Given the description of an element on the screen output the (x, y) to click on. 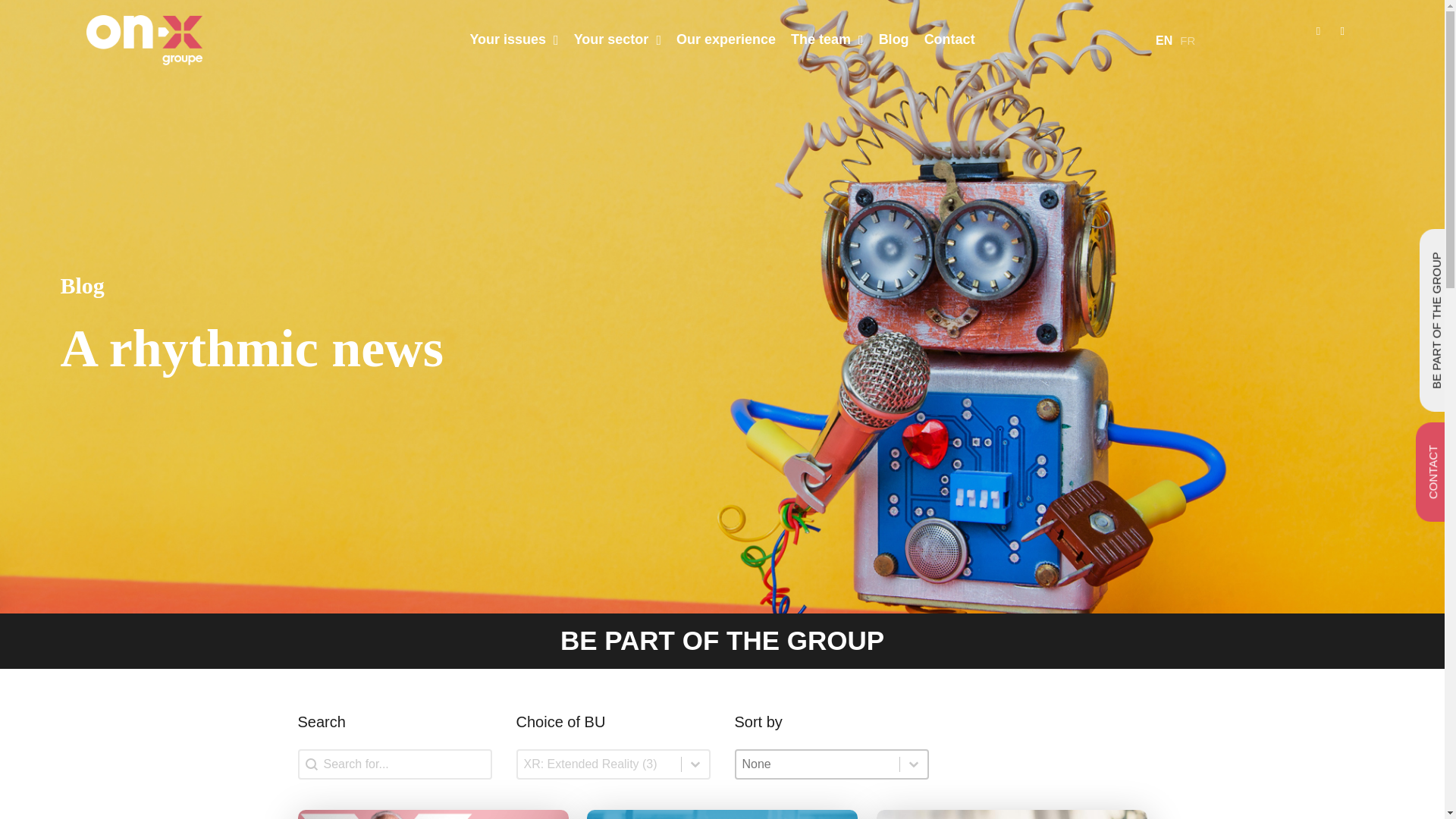
Our experience (725, 39)
The team (826, 39)
Your sector (617, 39)
FR (1187, 40)
Language switcher : French (1187, 40)
Your issues (513, 39)
Blog (893, 39)
BE PART OF THE GROUP (721, 640)
Contact (949, 39)
